Given the description of an element on the screen output the (x, y) to click on. 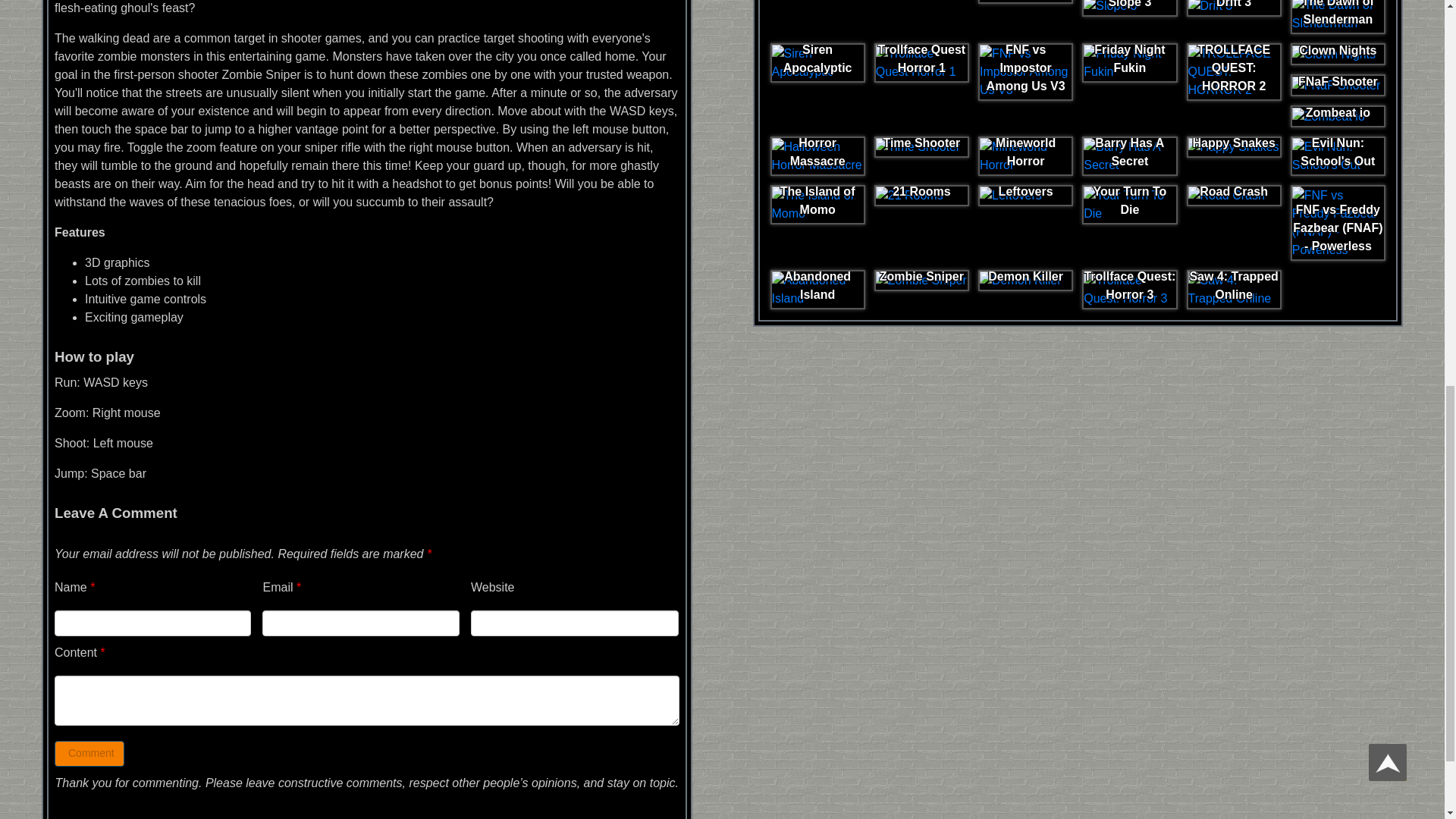
Comment (89, 753)
